Given the description of an element on the screen output the (x, y) to click on. 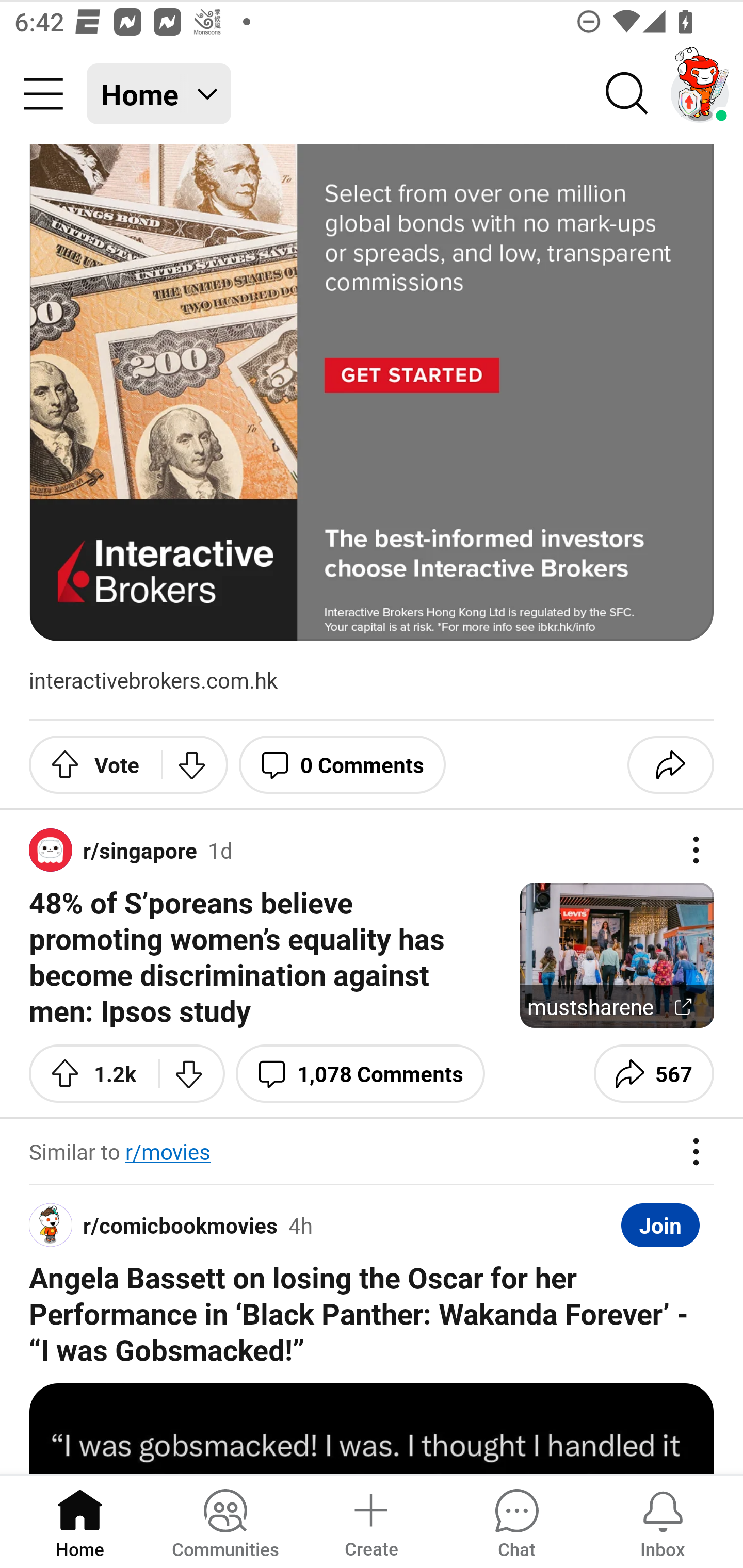
Community menu (43, 93)
Home Home feed (158, 93)
Search (626, 93)
TestAppium002 account (699, 93)
Home (80, 1520)
Communities (225, 1520)
Create a post Create (370, 1520)
Chat (516, 1520)
Inbox (662, 1520)
